Given the description of an element on the screen output the (x, y) to click on. 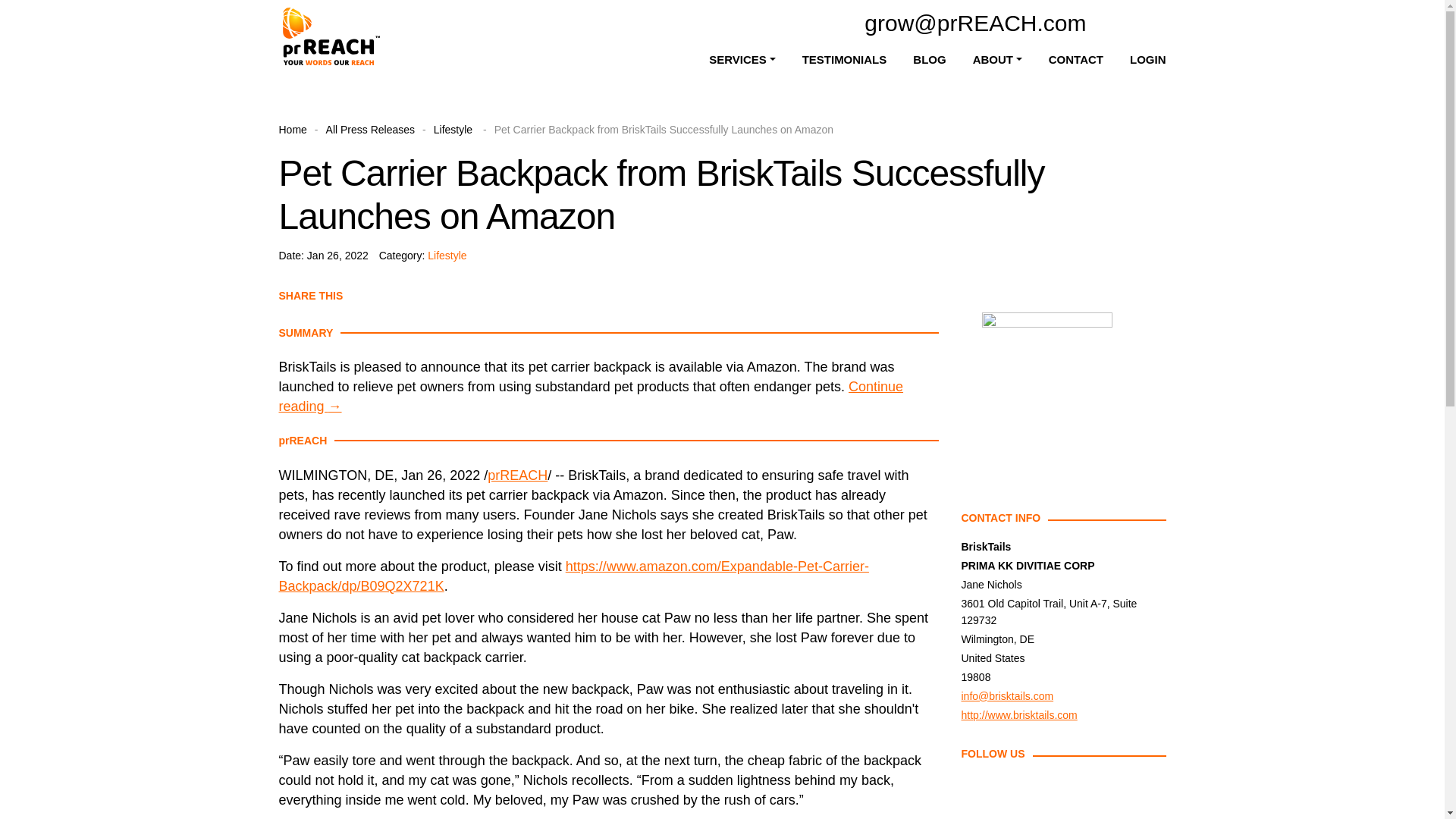
CONTACT (1075, 59)
LOGIN (1147, 59)
Lifestyle (454, 129)
SERVICES (741, 59)
prREACH (517, 475)
BLOG (928, 59)
All Press Releases (370, 129)
TESTIMONIALS (844, 59)
ABOUT (997, 59)
Lifestyle (446, 255)
Home (293, 129)
